Given the description of an element on the screen output the (x, y) to click on. 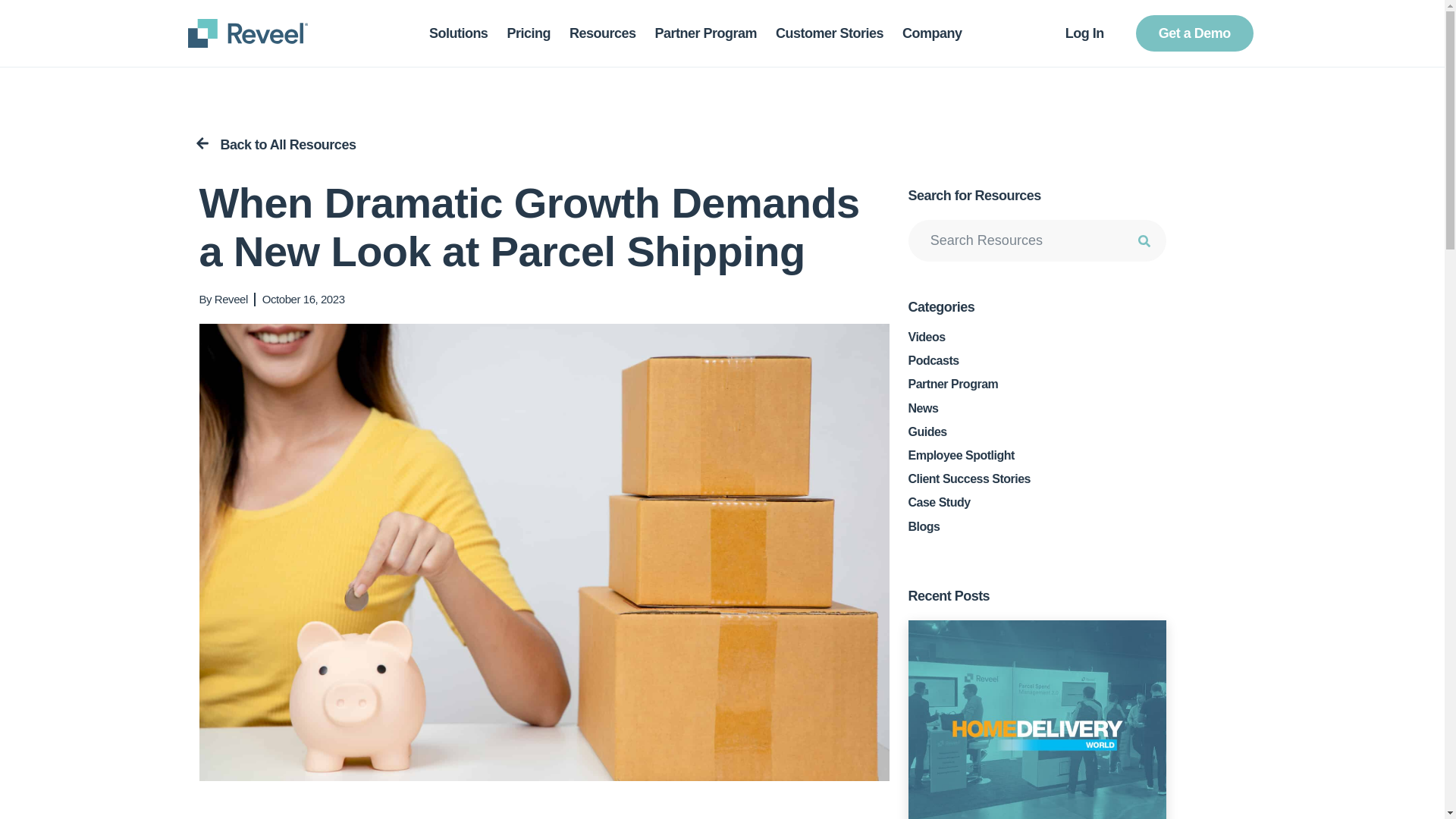
Partner Program (705, 33)
Company (932, 33)
Log In (1084, 33)
Resources (602, 33)
Solutions (458, 33)
Customer Stories (829, 33)
Pricing (528, 33)
